Given the description of an element on the screen output the (x, y) to click on. 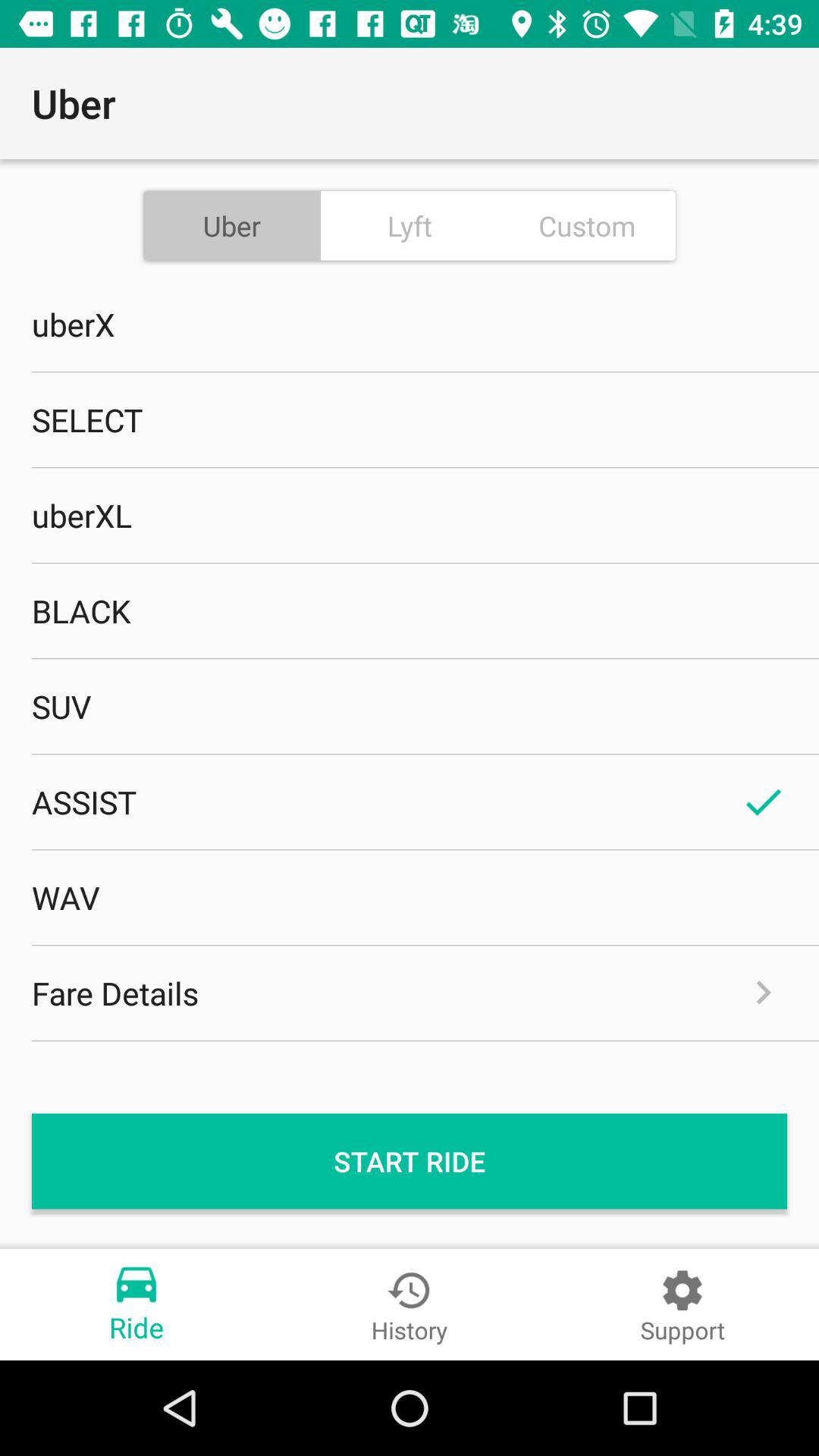
turn on icon below select item (409, 515)
